Given the description of an element on the screen output the (x, y) to click on. 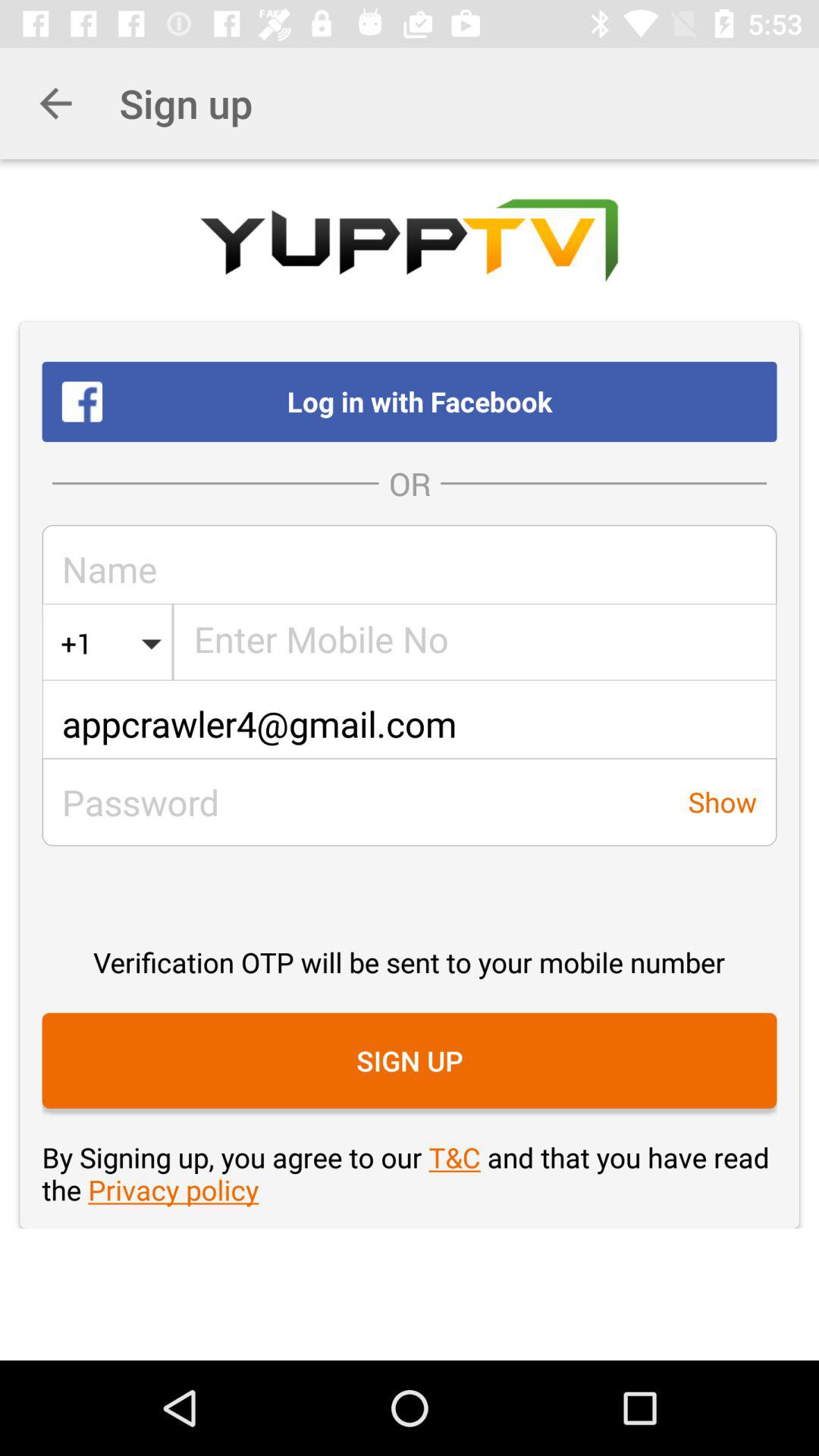
scroll to the +1 icon (77, 643)
